Given the description of an element on the screen output the (x, y) to click on. 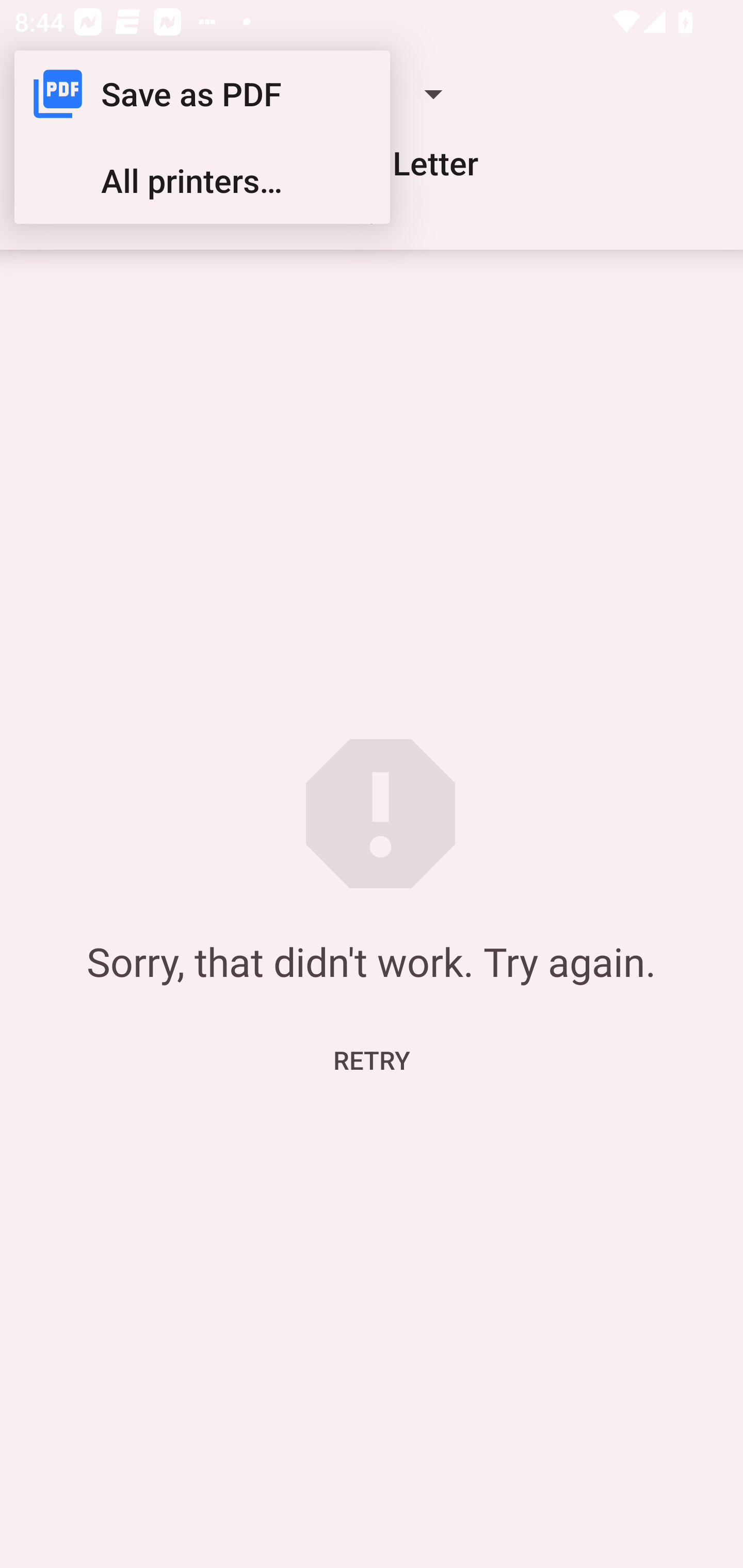
Save as PDF (202, 93)
All printers… (202, 180)
